Given the description of an element on the screen output the (x, y) to click on. 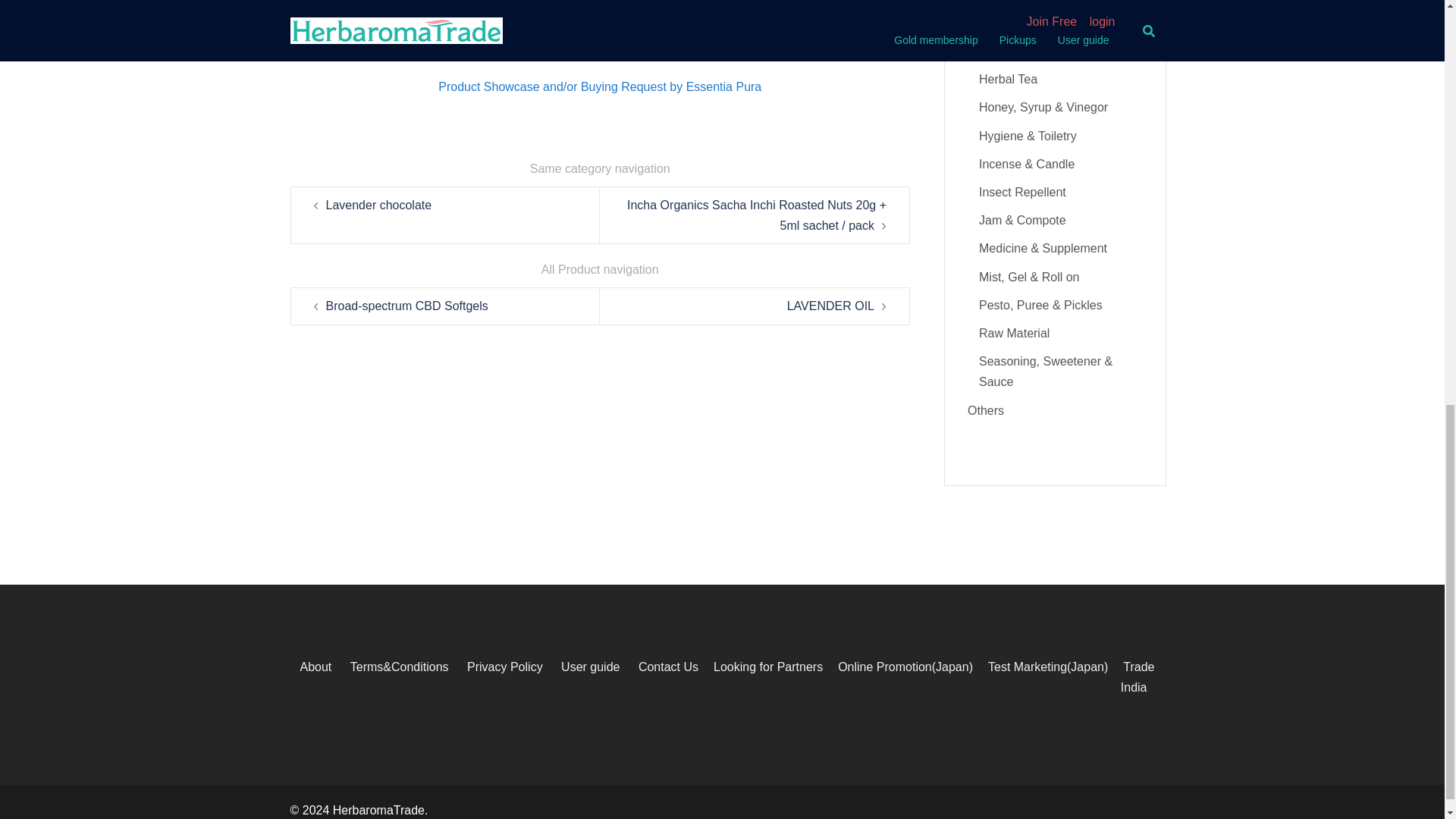
send message (600, 38)
Lavender chocolate (379, 205)
Broad-spectrum CBD Softgels (406, 305)
